Given the description of an element on the screen output the (x, y) to click on. 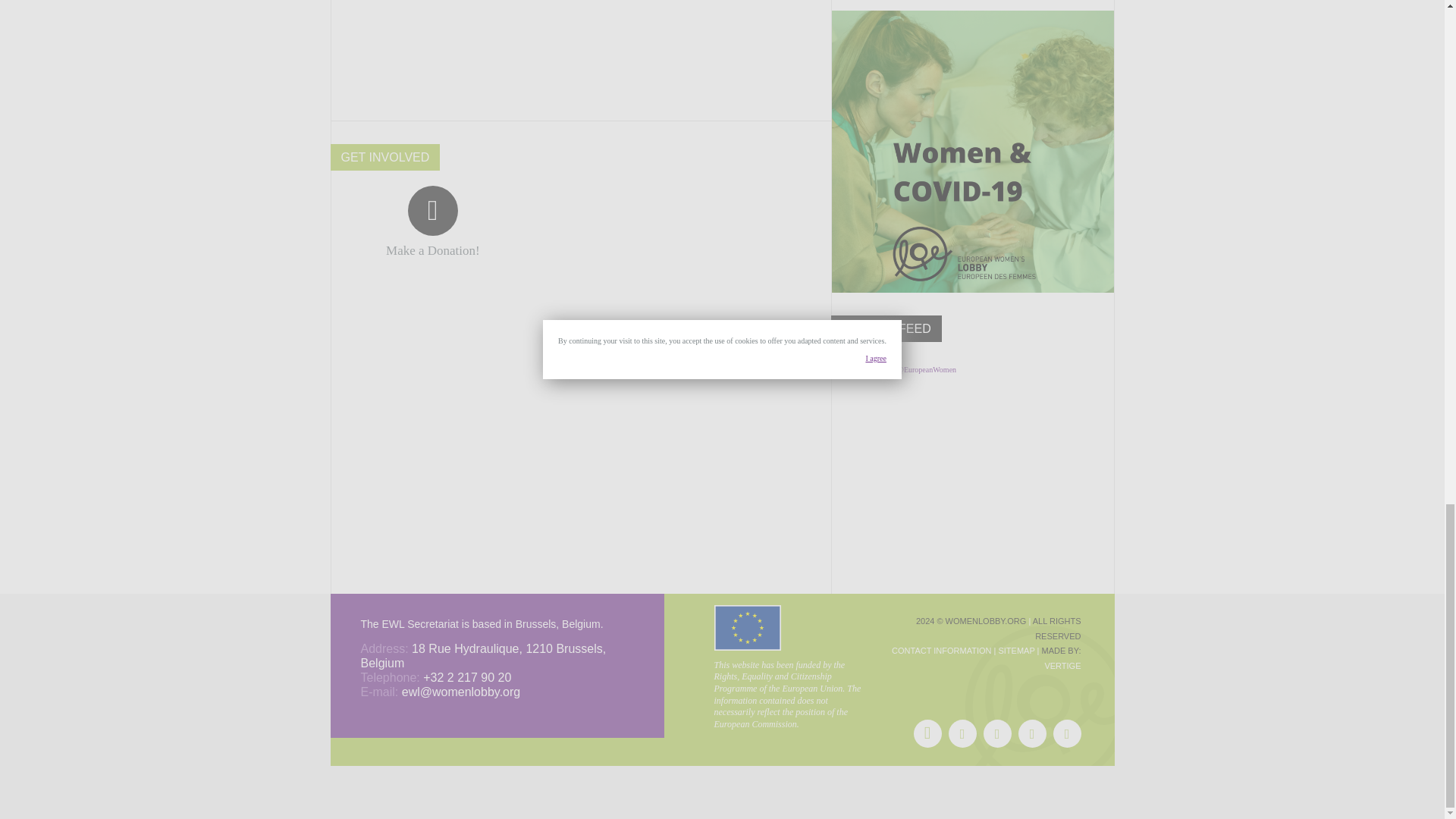
Vimeo (1066, 733)
Facebook (926, 733)
Twitter (961, 733)
YouTube (1031, 733)
Flickr (996, 733)
